Given the description of an element on the screen output the (x, y) to click on. 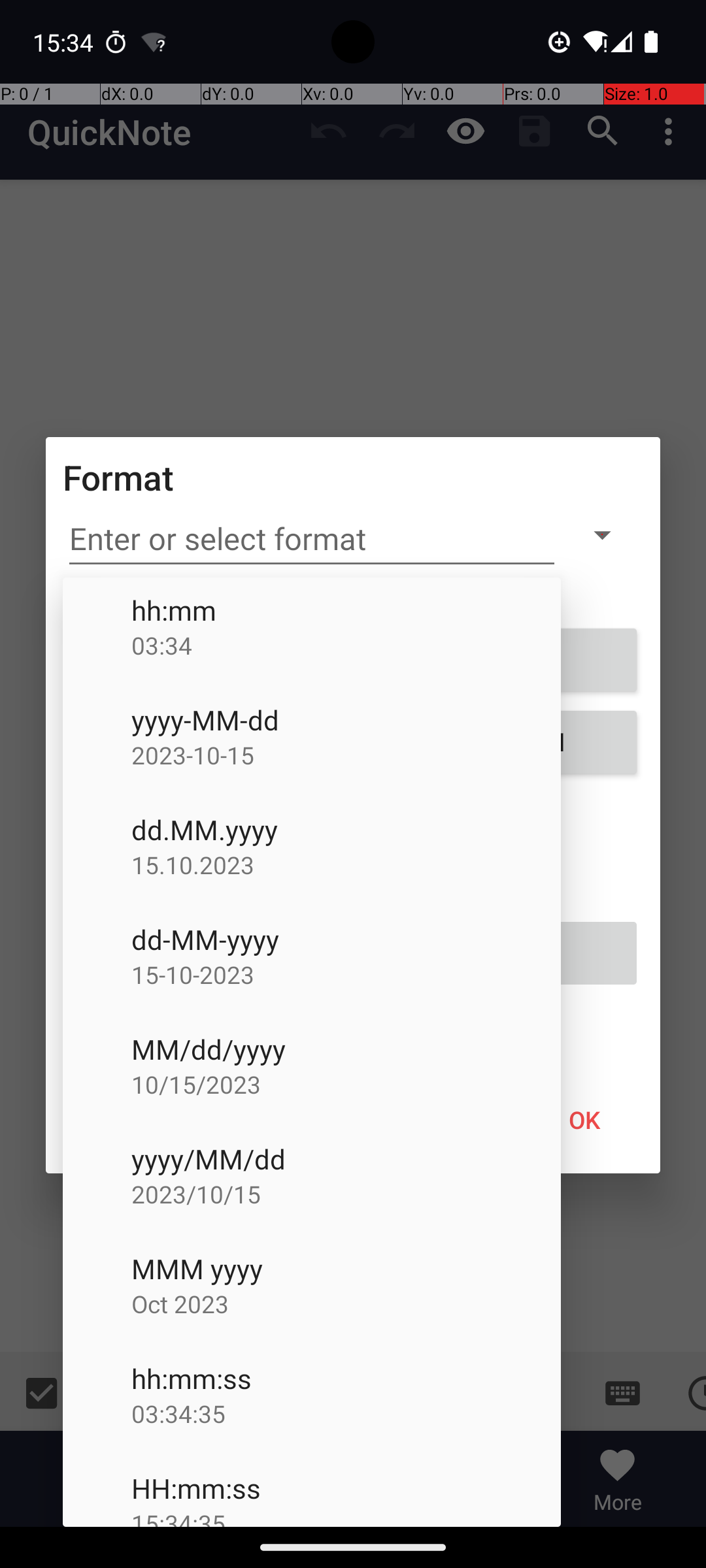
hh:mm Element type: android.widget.TextView (345, 609)
03:34 Element type: android.widget.TextView (345, 644)
2023-10-15 Element type: android.widget.TextView (345, 754)
dd.MM.yyyy Element type: android.widget.TextView (345, 829)
15.10.2023 Element type: android.widget.TextView (345, 864)
dd-MM-yyyy Element type: android.widget.TextView (345, 938)
15-10-2023 Element type: android.widget.TextView (345, 974)
MM/dd/yyyy Element type: android.widget.TextView (345, 1048)
10/15/2023 Element type: android.widget.TextView (345, 1083)
yyyy/MM/dd Element type: android.widget.TextView (345, 1158)
2023/10/15 Element type: android.widget.TextView (345, 1193)
MMM yyyy Element type: android.widget.TextView (345, 1268)
Oct 2023 Element type: android.widget.TextView (345, 1303)
hh:mm:ss Element type: android.widget.TextView (345, 1377)
03:34:35 Element type: android.widget.TextView (345, 1413)
HH:mm:ss Element type: android.widget.TextView (345, 1487)
15:34:35 Element type: android.widget.TextView (345, 1516)
